Given the description of an element on the screen output the (x, y) to click on. 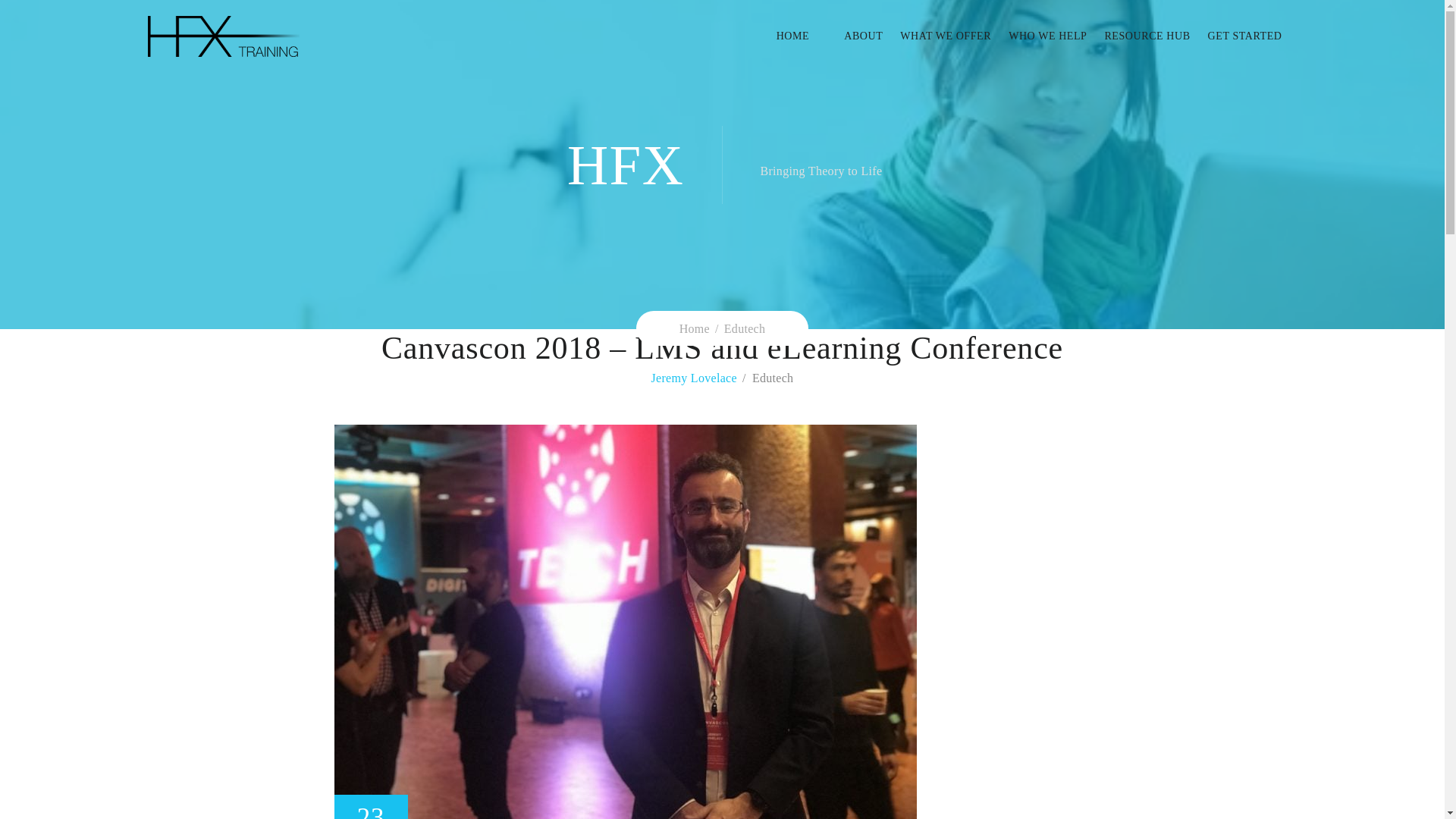
GET STARTED (1236, 36)
WHO WE HELP (1038, 36)
HFX Training - Bringing Theory to Life (222, 35)
HOME (801, 36)
Home (694, 328)
ABOUT (854, 36)
RESOURCE HUB (1137, 36)
WHAT WE OFFER (936, 36)
Edutech (744, 328)
